Given the description of an element on the screen output the (x, y) to click on. 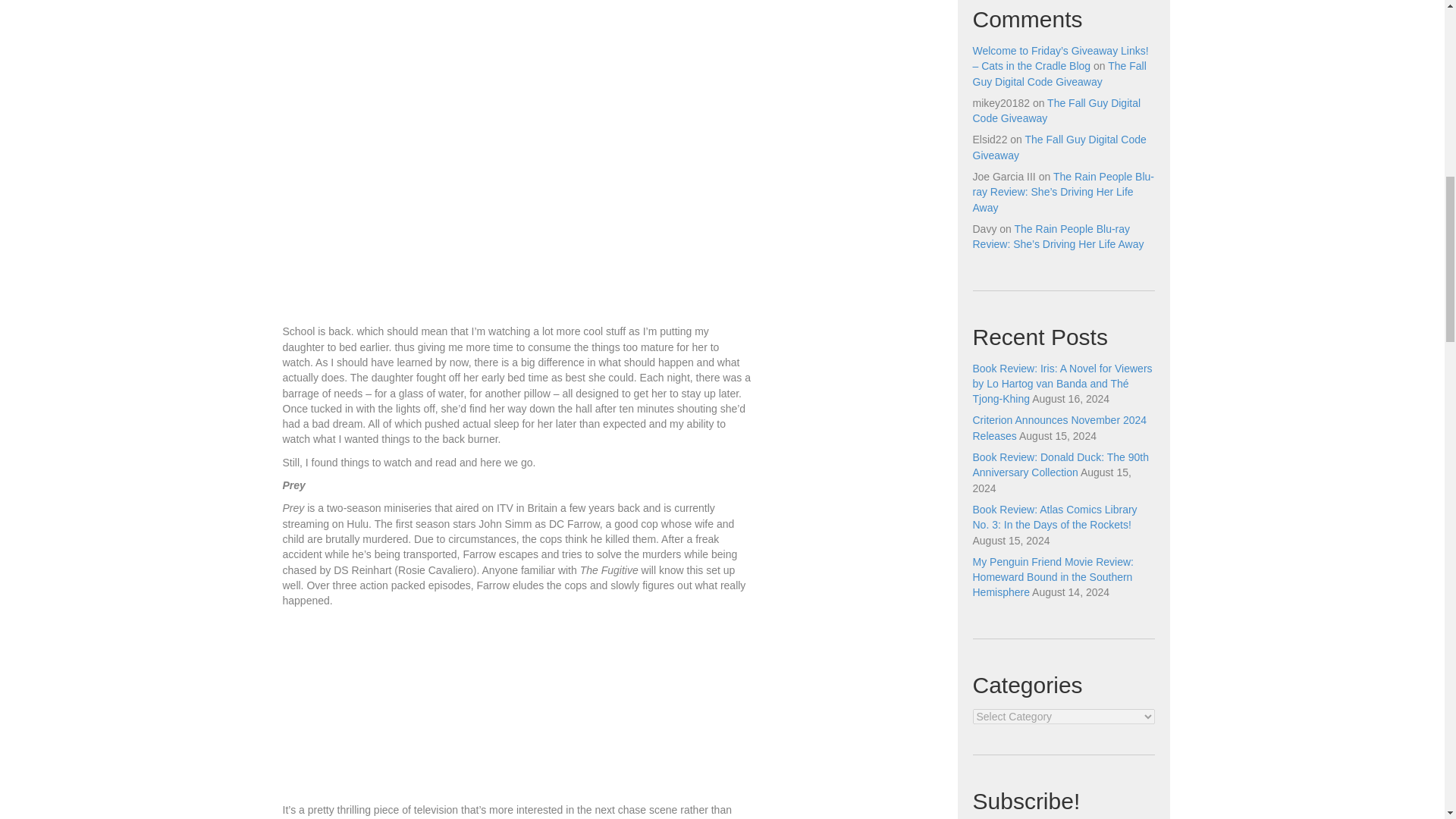
Book Review: Donald Duck: The 90th Anniversary Collection (1060, 464)
The Fall Guy Digital Code Giveaway (1056, 110)
The Fall Guy Digital Code Giveaway (1058, 146)
Criterion Announces November 2024 Releases (1059, 427)
The Fall Guy Digital Code Giveaway (1058, 72)
